Given the description of an element on the screen output the (x, y) to click on. 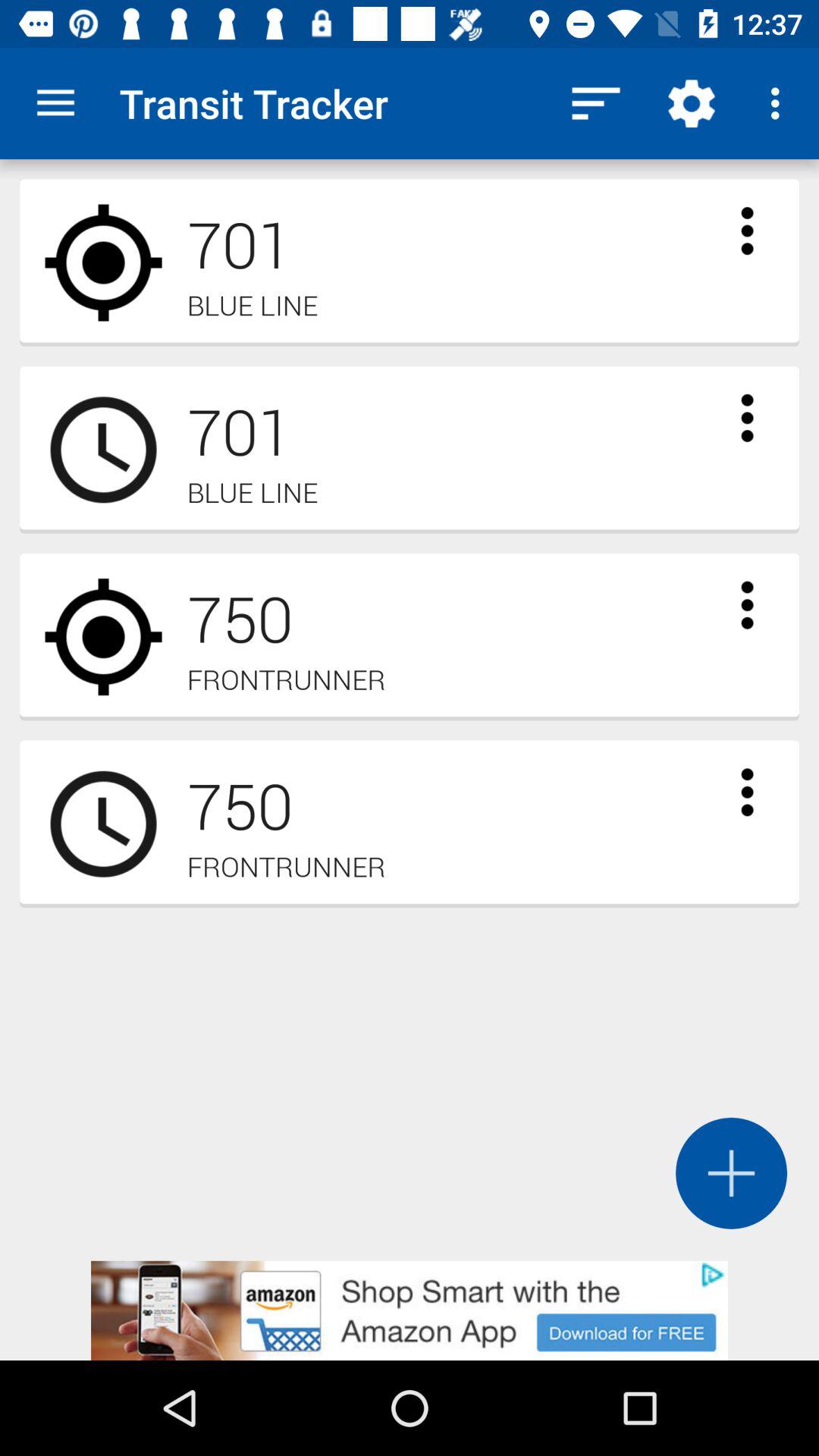
show options (747, 605)
